Given the description of an element on the screen output the (x, y) to click on. 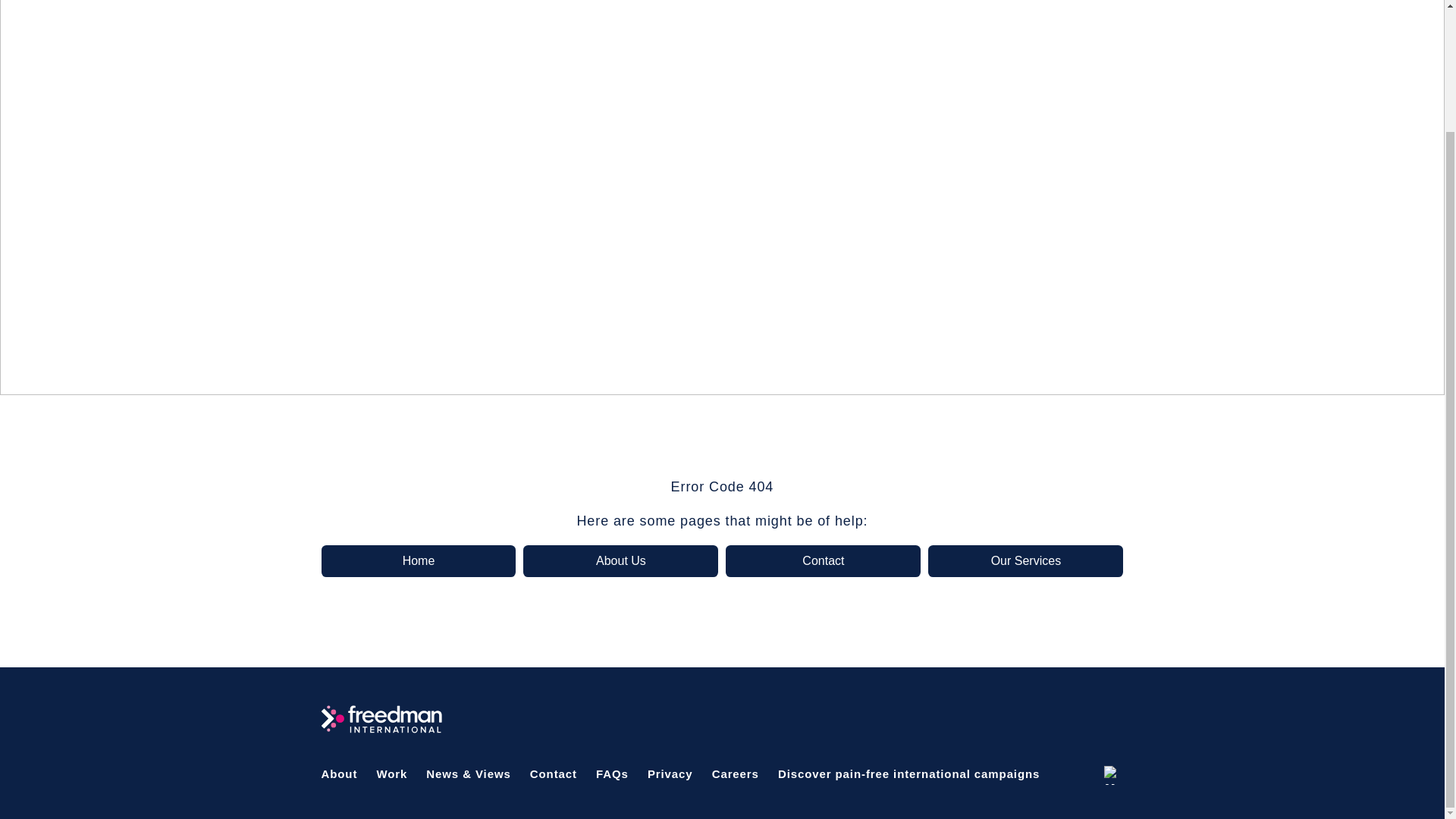
About Us (619, 561)
About (339, 773)
Our Services (1025, 561)
Discover pain-free international campaigns (908, 773)
Contact (822, 561)
FAQs (611, 773)
Privacy (670, 773)
Careers (734, 773)
Contact (552, 773)
Home (418, 561)
Work (391, 773)
